Given the description of an element on the screen output the (x, y) to click on. 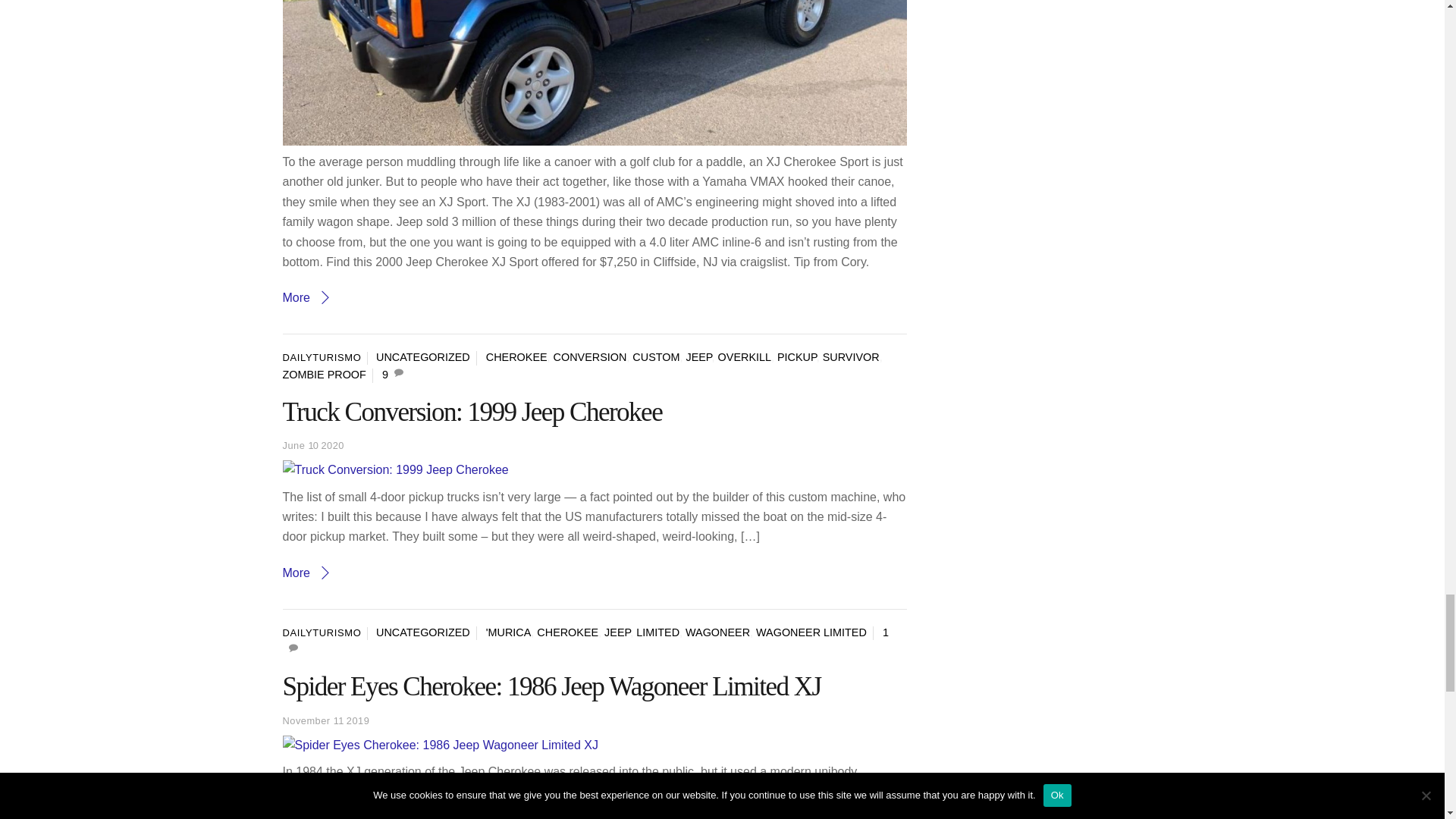
Truck Conversion: 1999 Jeep Cherokee (395, 469)
1-72 (594, 72)
Spider Eyes Cherokee: 1986 Jeep Wagoneer Limited XJ (440, 745)
